Given the description of an element on the screen output the (x, y) to click on. 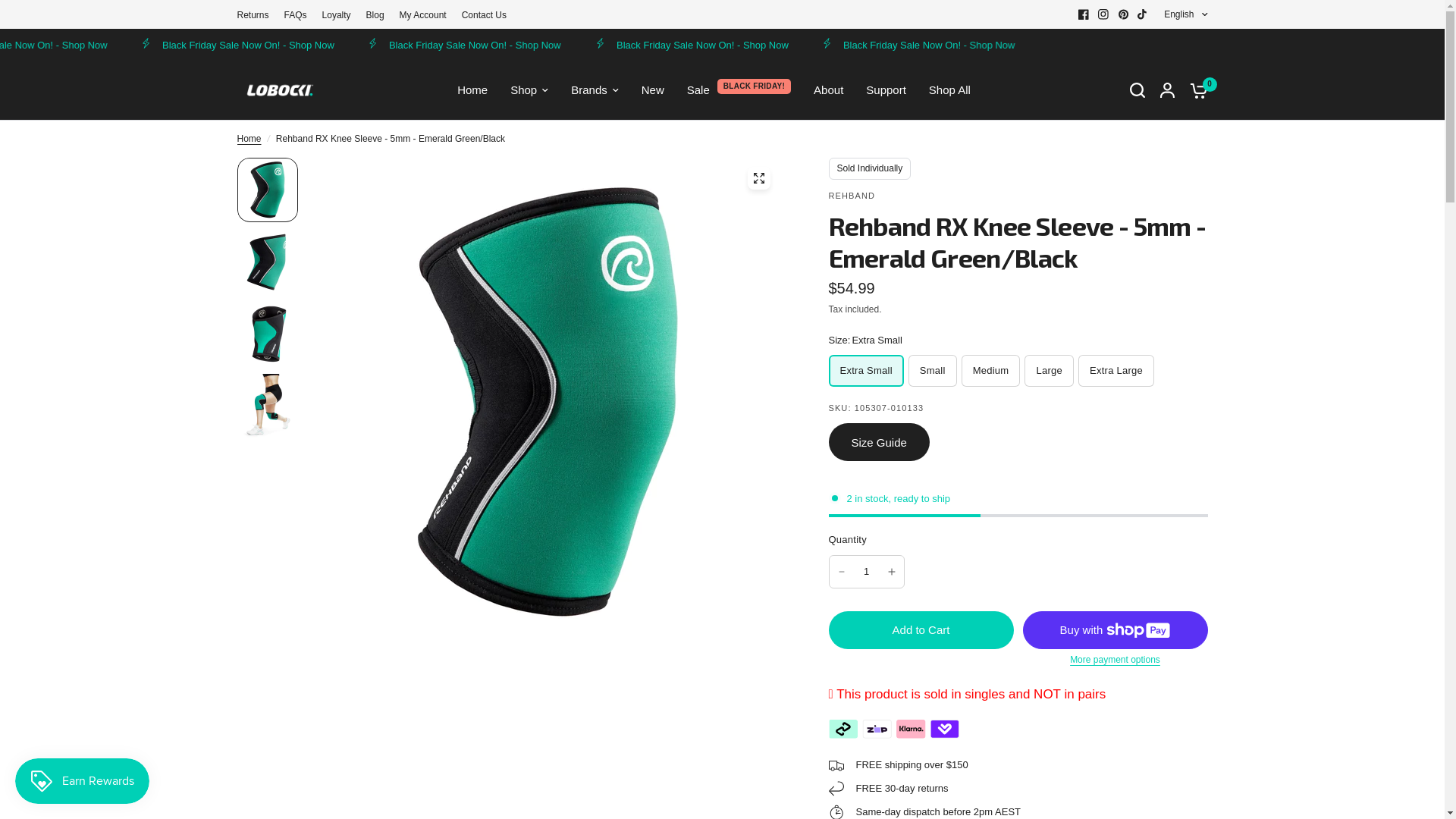
Black Friday Sale Now On! - Shop Now Element type: text (801, 43)
Search Element type: hover (1137, 89)
Black Friday Sale Now On! - Shop Now Element type: text (349, 43)
More payment options Element type: text (1115, 659)
Contact Us Element type: text (483, 15)
Shop Element type: text (529, 90)
Black Friday Sale Now On! - Shop Now Element type: text (123, 43)
Support Element type: text (886, 90)
Pinterest Element type: hover (1122, 14)
Black Friday Sale Now On! - Shop Now Element type: text (575, 43)
English Element type: text (1185, 14)
Blog Element type: text (375, 15)
About Element type: text (828, 90)
My Account Element type: text (422, 15)
Instagram Element type: hover (1103, 14)
Black Friday Sale Now On! - Shop Now Element type: text (1254, 43)
Add to Cart Element type: text (920, 630)
Sale Element type: text (698, 90)
Black Friday Sale Now On! - Shop Now Element type: text (1027, 43)
Loyalty Element type: text (336, 15)
Size Guide Element type: text (878, 442)
Shop All Element type: text (949, 90)
Facebook Element type: hover (1083, 14)
FAQs Element type: text (295, 15)
Smile.io Rewards Program Launcher Element type: hover (82, 780)
Returns Element type: text (252, 15)
TikTok Element type: hover (1142, 14)
Brands Element type: text (594, 90)
Home Element type: text (248, 138)
Home Element type: text (472, 90)
0 Element type: text (1194, 89)
My Account Element type: hover (1167, 89)
New Element type: text (652, 90)
